Given the description of an element on the screen output the (x, y) to click on. 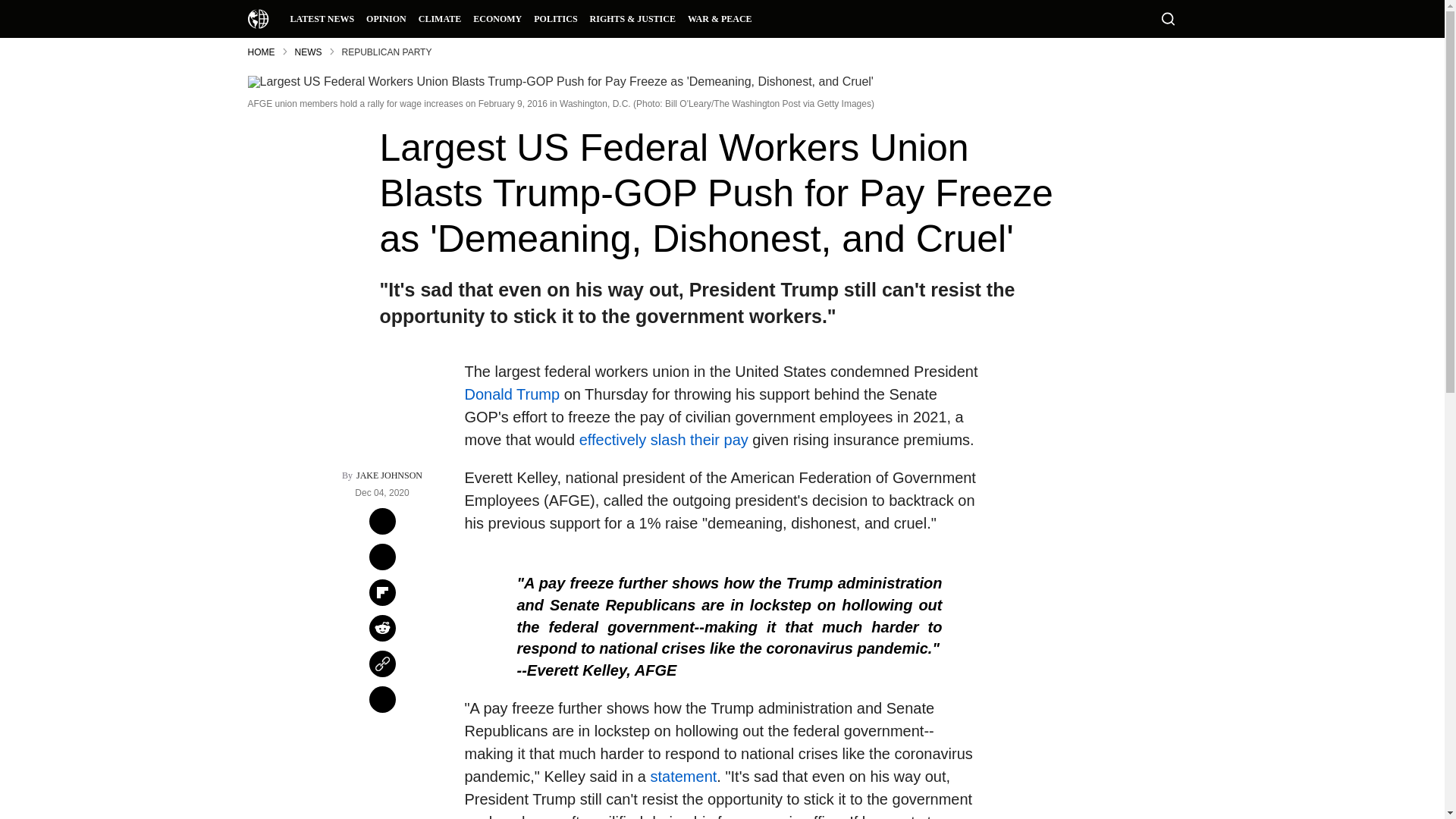
Common Dreams (257, 17)
Copy this link to clipboard (382, 663)
